Given the description of an element on the screen output the (x, y) to click on. 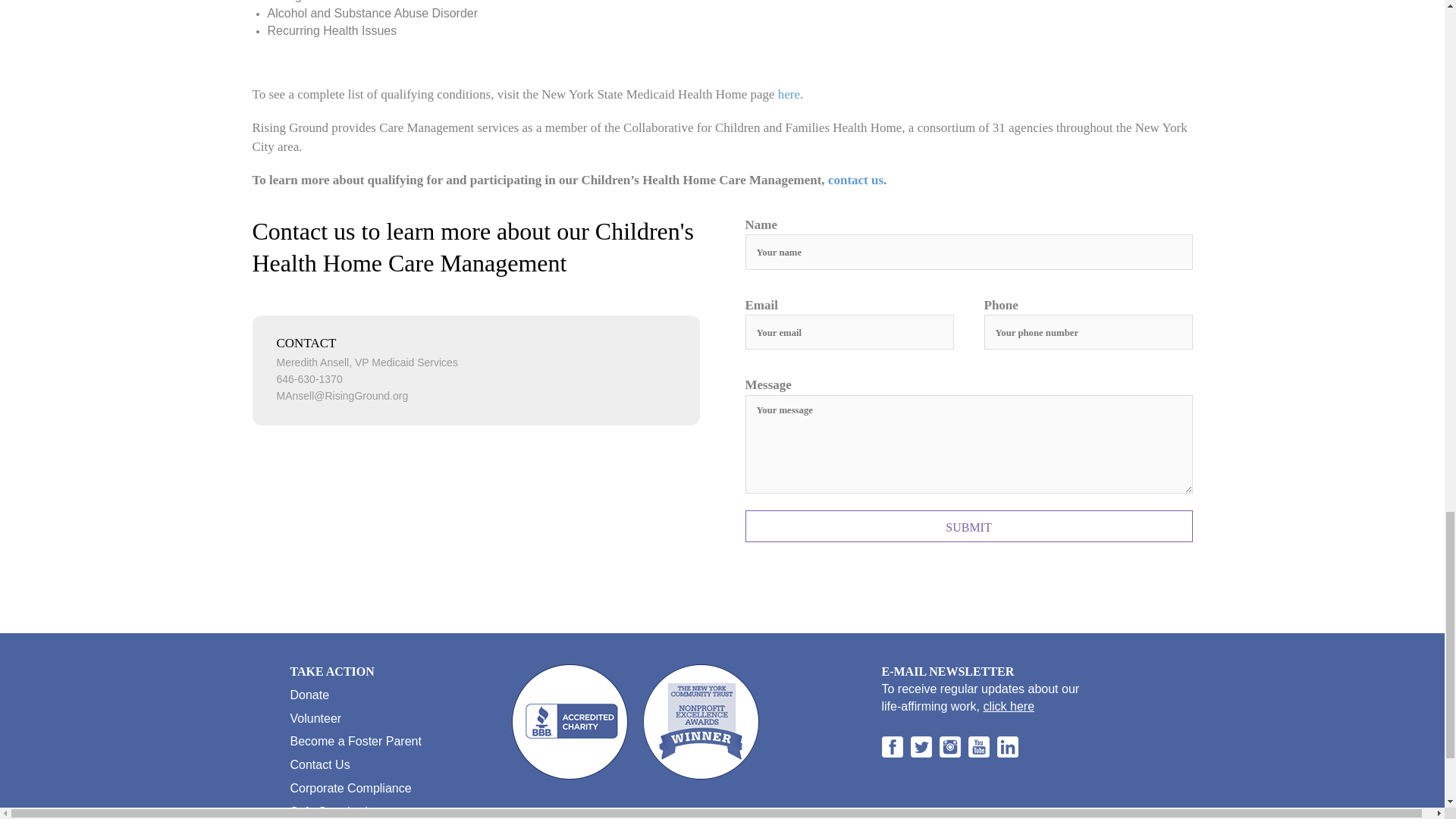
Submit (968, 526)
